Given the description of an element on the screen output the (x, y) to click on. 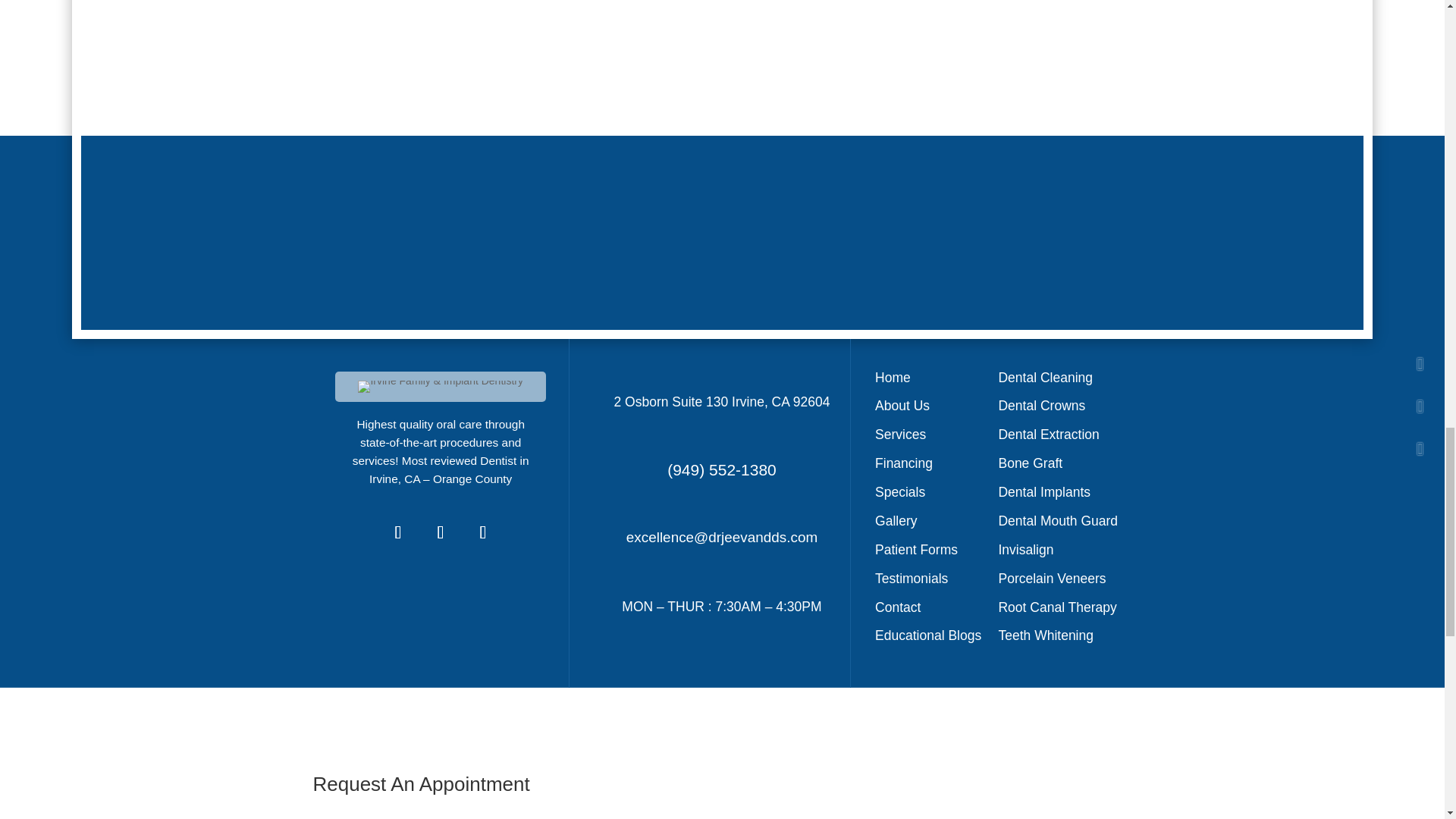
Follow on Facebook (398, 532)
Follow on X (440, 532)
Follow on Instagram (482, 532)
